Given the description of an element on the screen output the (x, y) to click on. 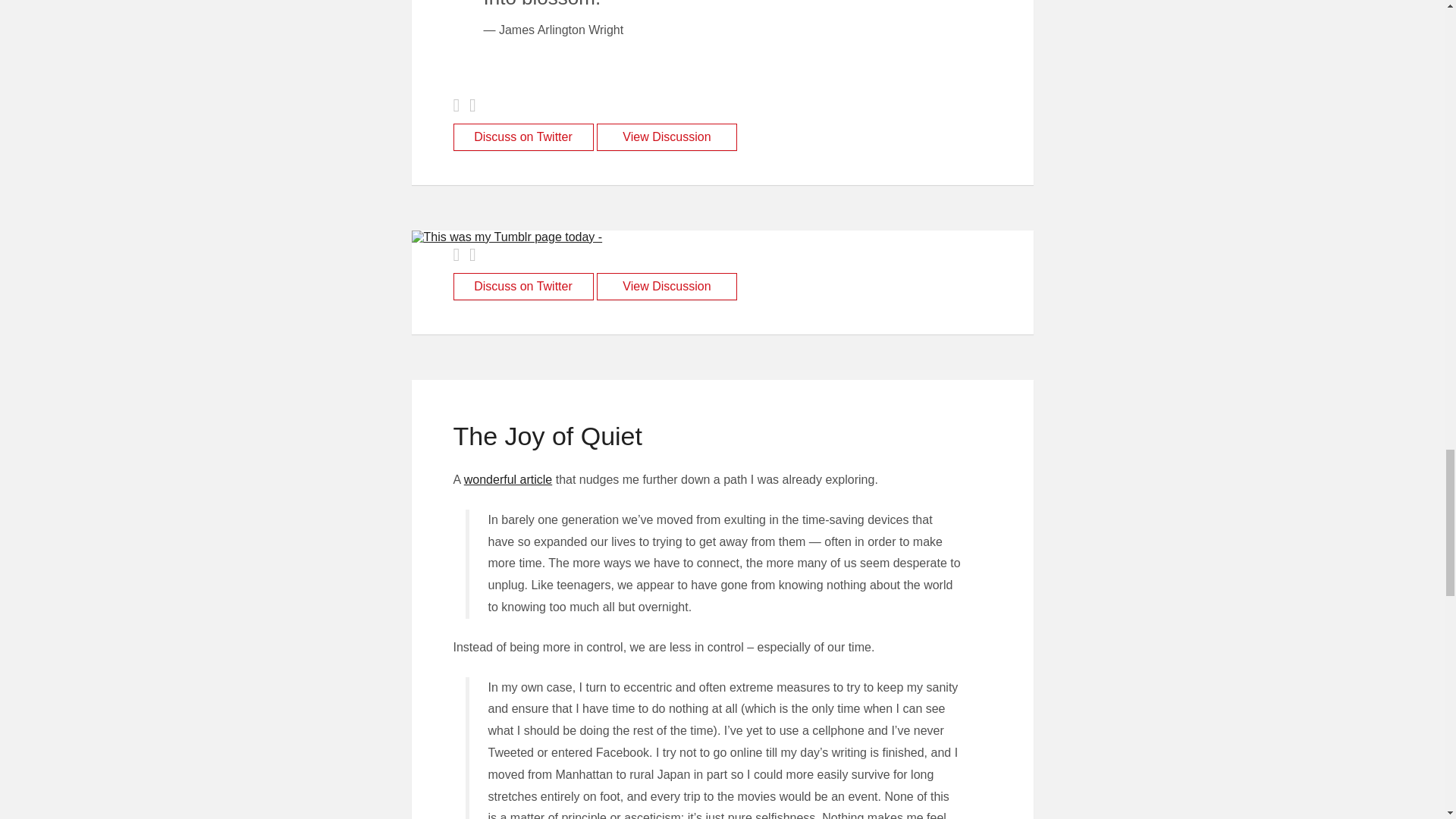
View Discussion (666, 136)
Discuss on Twitter (523, 136)
View Discussion (666, 286)
Discuss on Twitter (523, 286)
